Given the description of an element on the screen output the (x, y) to click on. 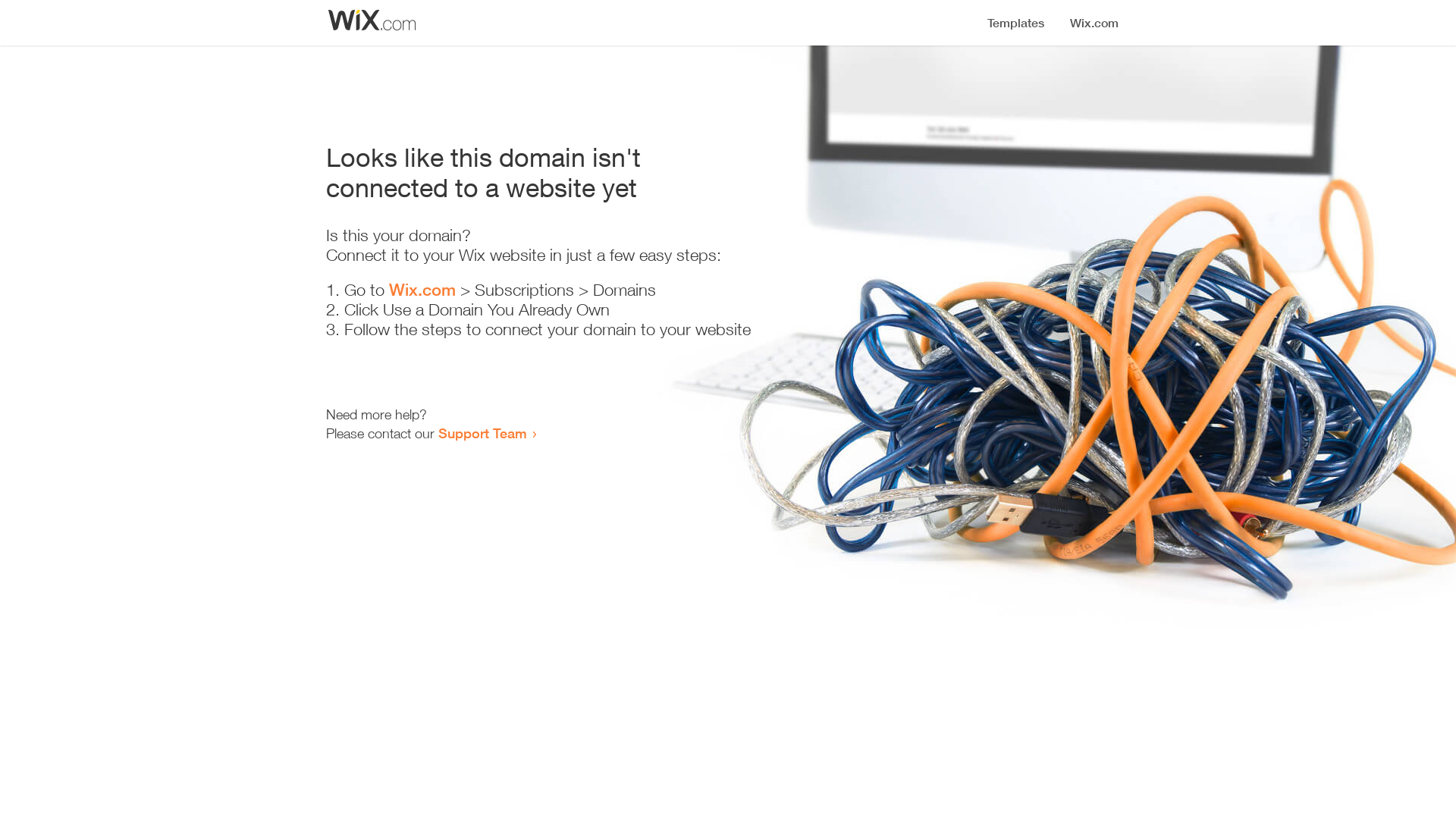
Wix.com Element type: text (422, 289)
Support Team Element type: text (482, 432)
